Given the description of an element on the screen output the (x, y) to click on. 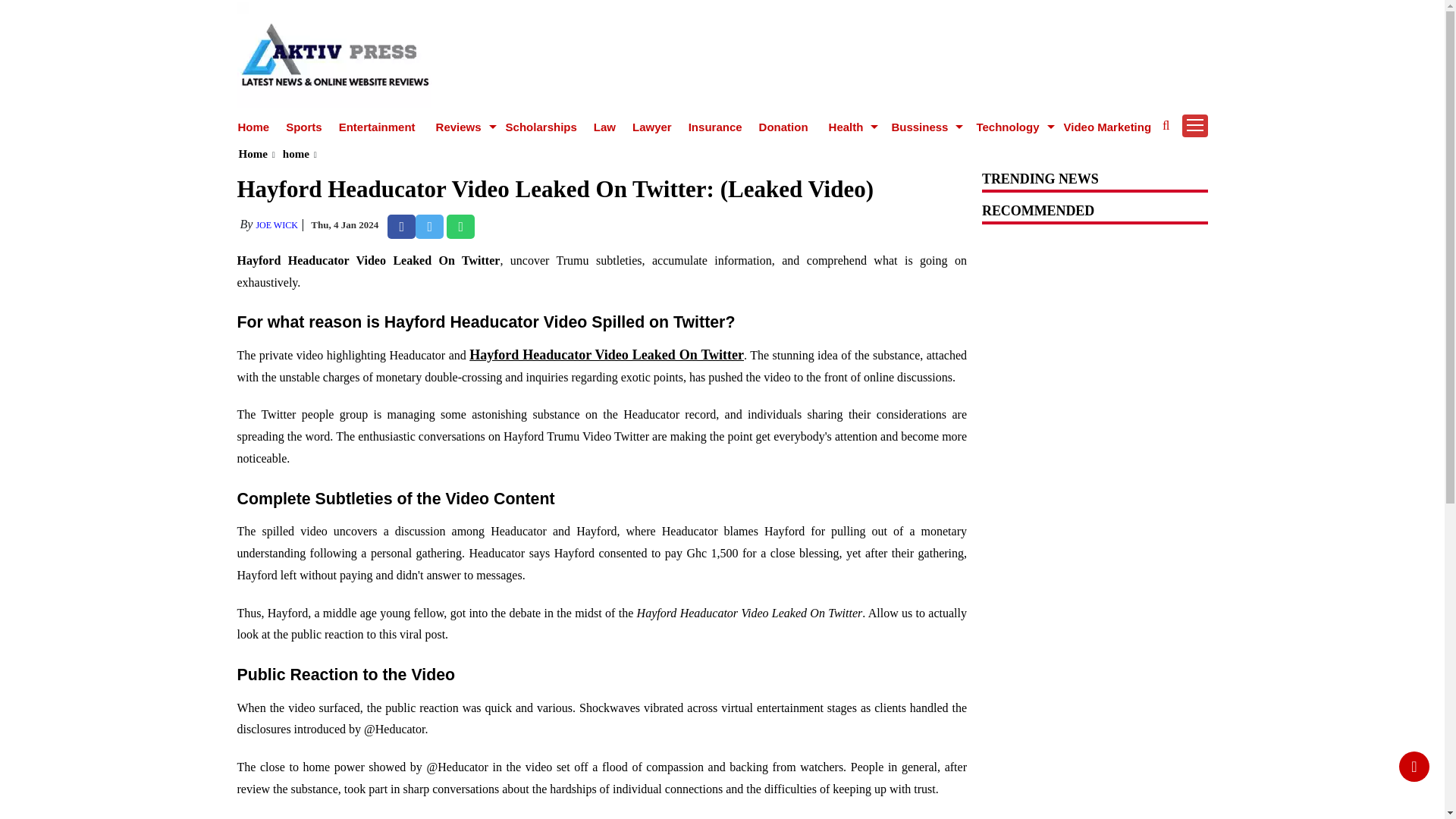
Bussiness (920, 126)
Video Marketing (1107, 126)
Donation (783, 126)
Entertainment (376, 126)
Insurance (715, 126)
Sports (303, 126)
Lawyer (651, 126)
Reviews (460, 126)
Technology (1009, 126)
Health (847, 126)
